Given the description of an element on the screen output the (x, y) to click on. 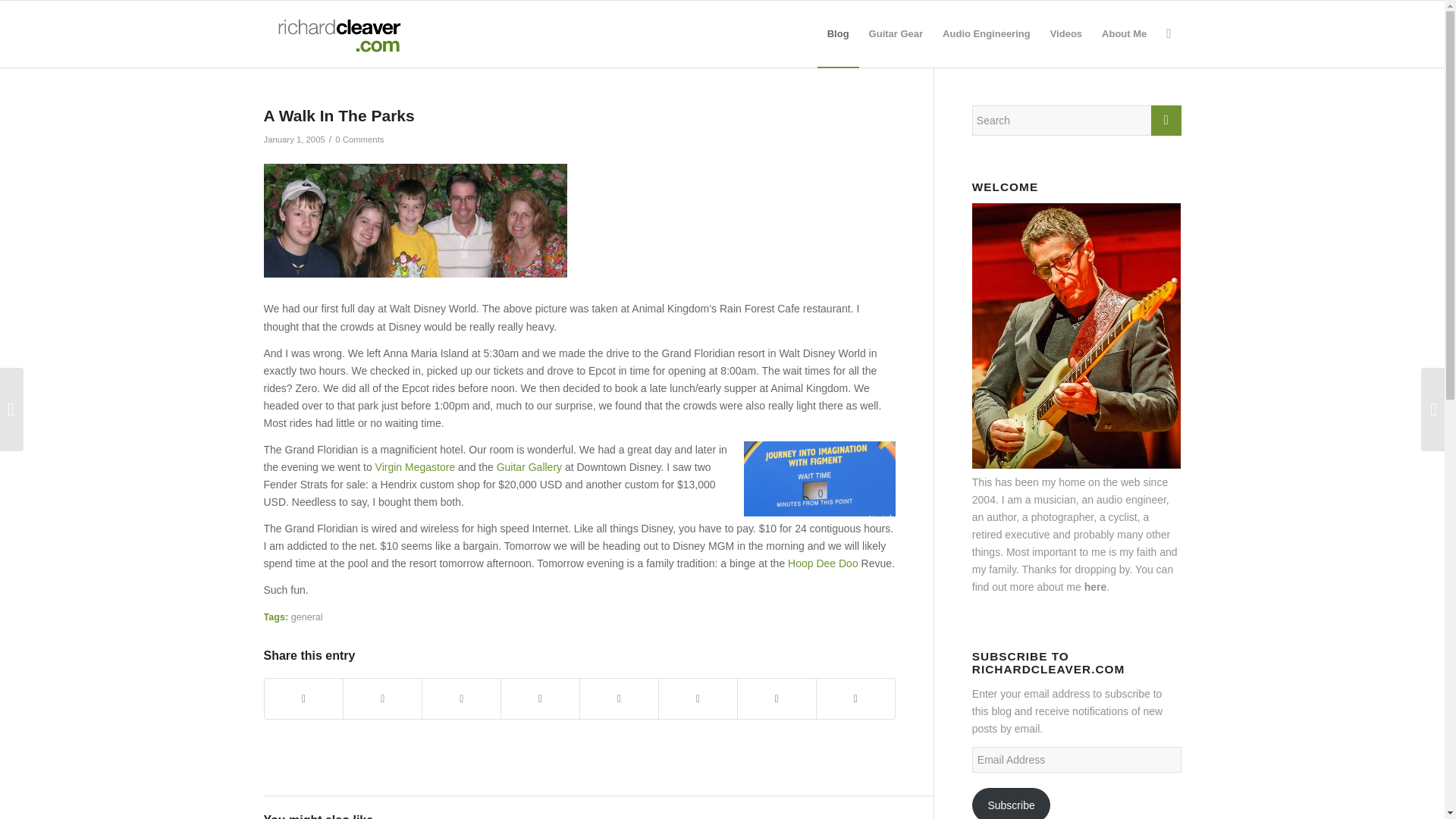
Guitar Gallery (529, 467)
0 Comments (359, 139)
Audio Engineering (987, 33)
About Me (1124, 33)
Virgin Megastore (415, 467)
Hoop Dee Doo (823, 563)
here (1095, 586)
Subscribe (1011, 803)
general (307, 616)
Guitar Gear (896, 33)
rcdotcomlogo (336, 33)
